Given the description of an element on the screen output the (x, y) to click on. 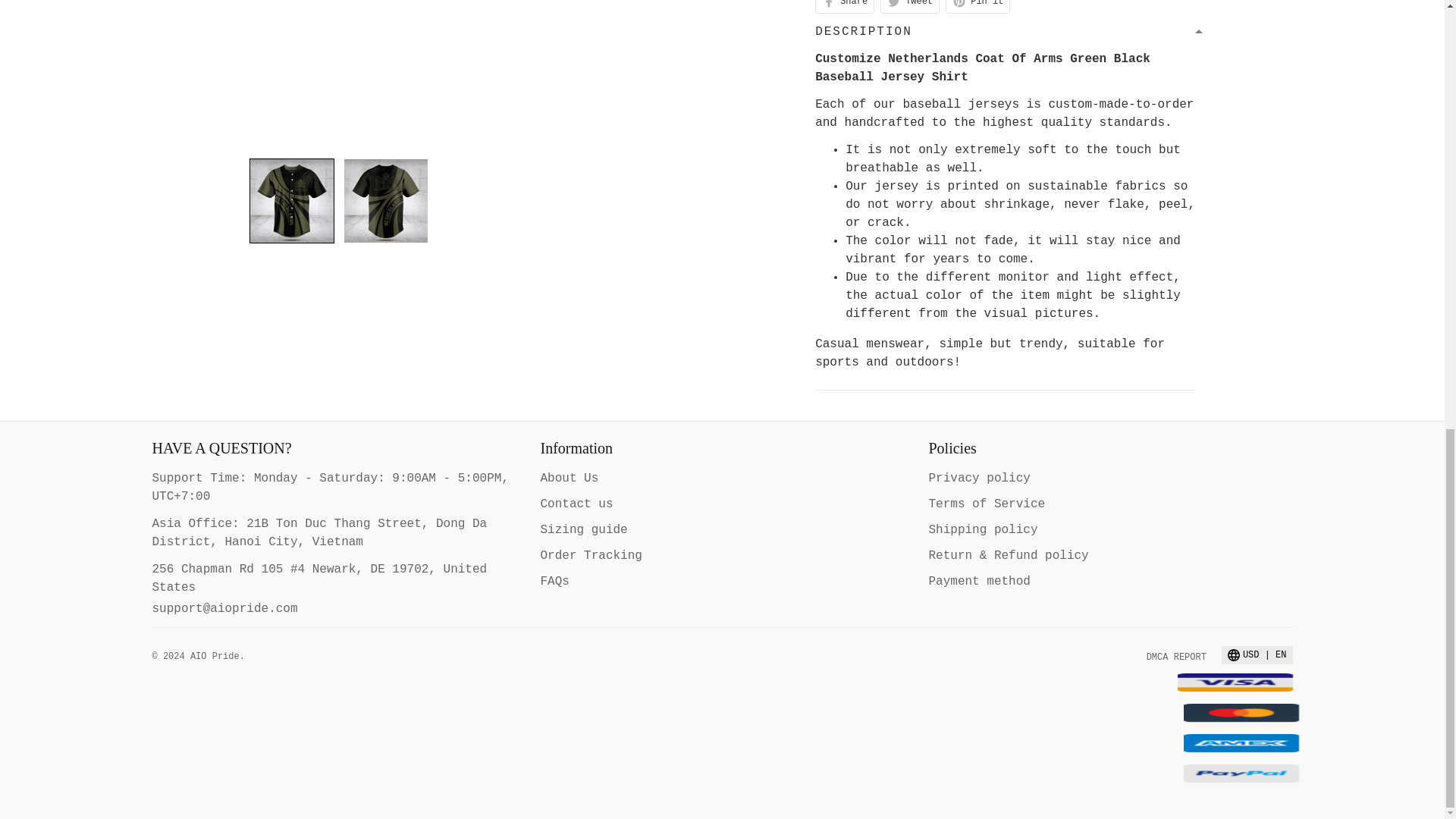
FAQs (554, 581)
Pin it (977, 6)
Payment method (978, 581)
Contact us (576, 504)
Sizing guide (583, 530)
About Us (569, 478)
Tweet (909, 6)
Share on Facebook (845, 6)
DMCA REPORT (1177, 656)
Privacy policy (978, 478)
Terms of Service (986, 504)
Share on Twitter (909, 6)
Share (845, 6)
Pin on Pinterest (977, 6)
Order Tracking (591, 555)
